Given the description of an element on the screen output the (x, y) to click on. 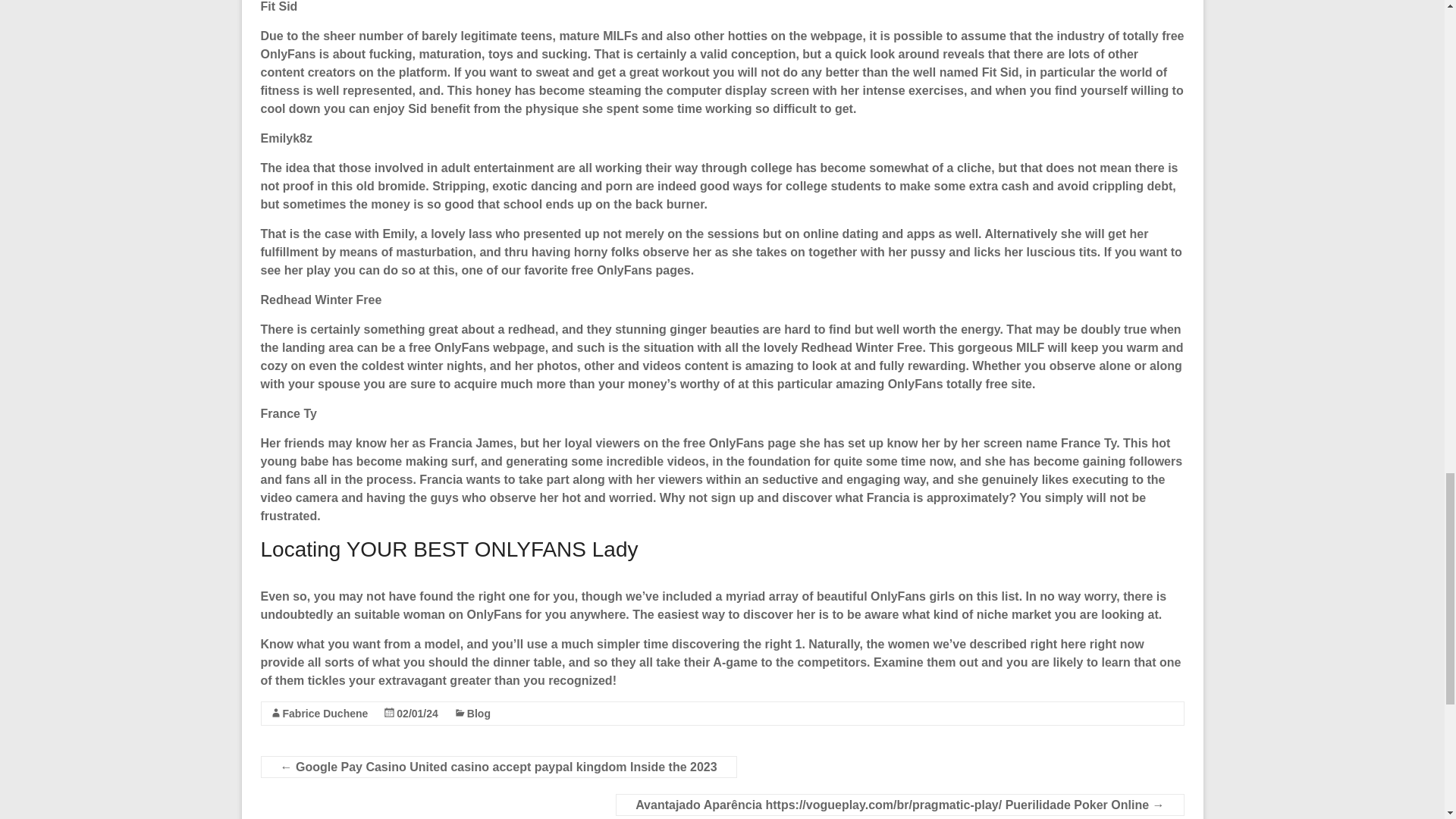
1h00 (417, 713)
Fabrice Duchene (325, 713)
